Given the description of an element on the screen output the (x, y) to click on. 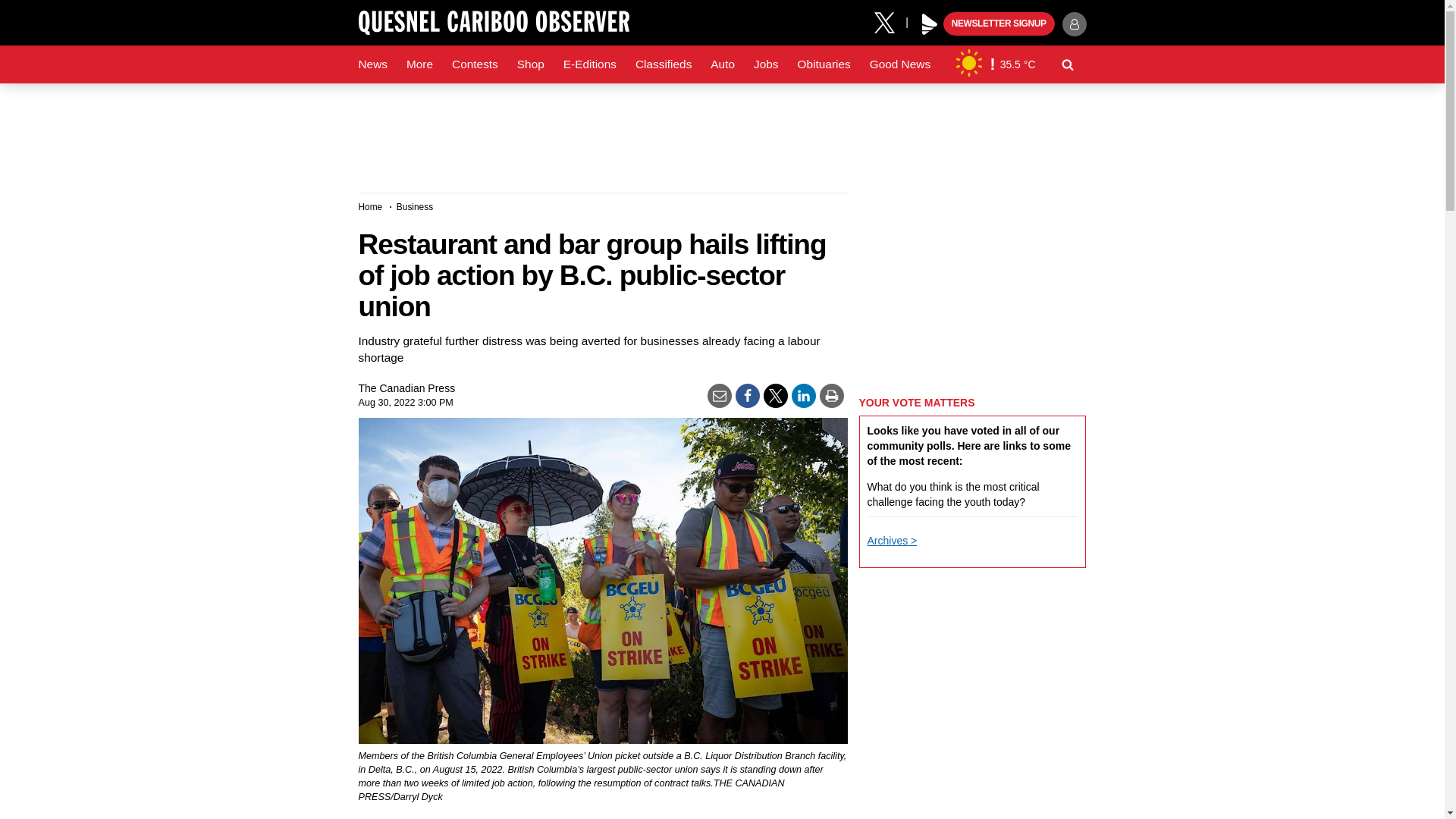
News (372, 64)
Black Press Media (929, 24)
Play (929, 24)
NEWSLETTER SIGNUP (998, 24)
3rd party ad content (972, 803)
X (889, 21)
